Given the description of an element on the screen output the (x, y) to click on. 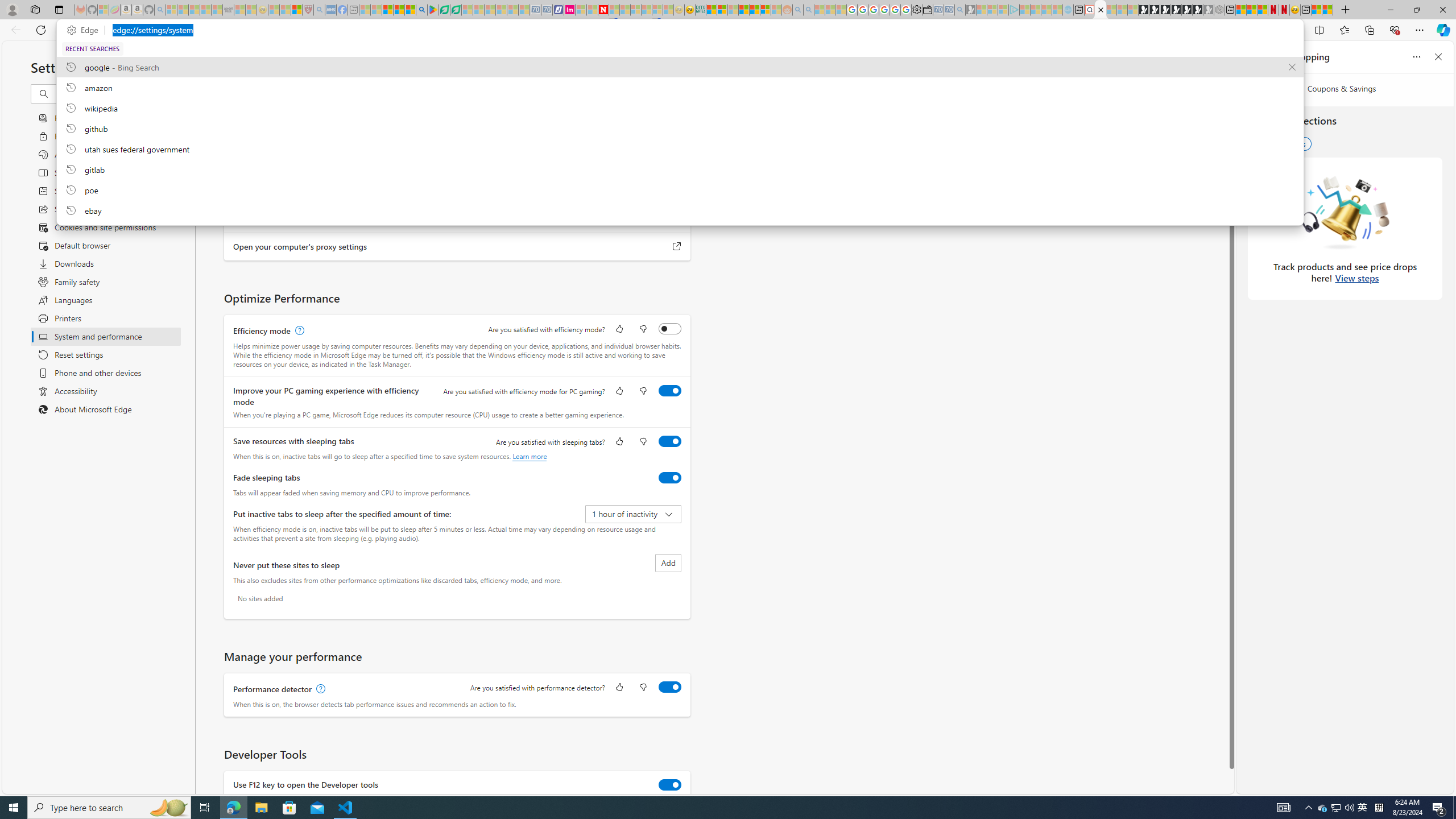
Add site to never put these sites to sleep list (668, 562)
poe, recent searches from history (679, 189)
Remove suggestion (1291, 66)
Open your computer's proxy settings (676, 246)
